Given the description of an element on the screen output the (x, y) to click on. 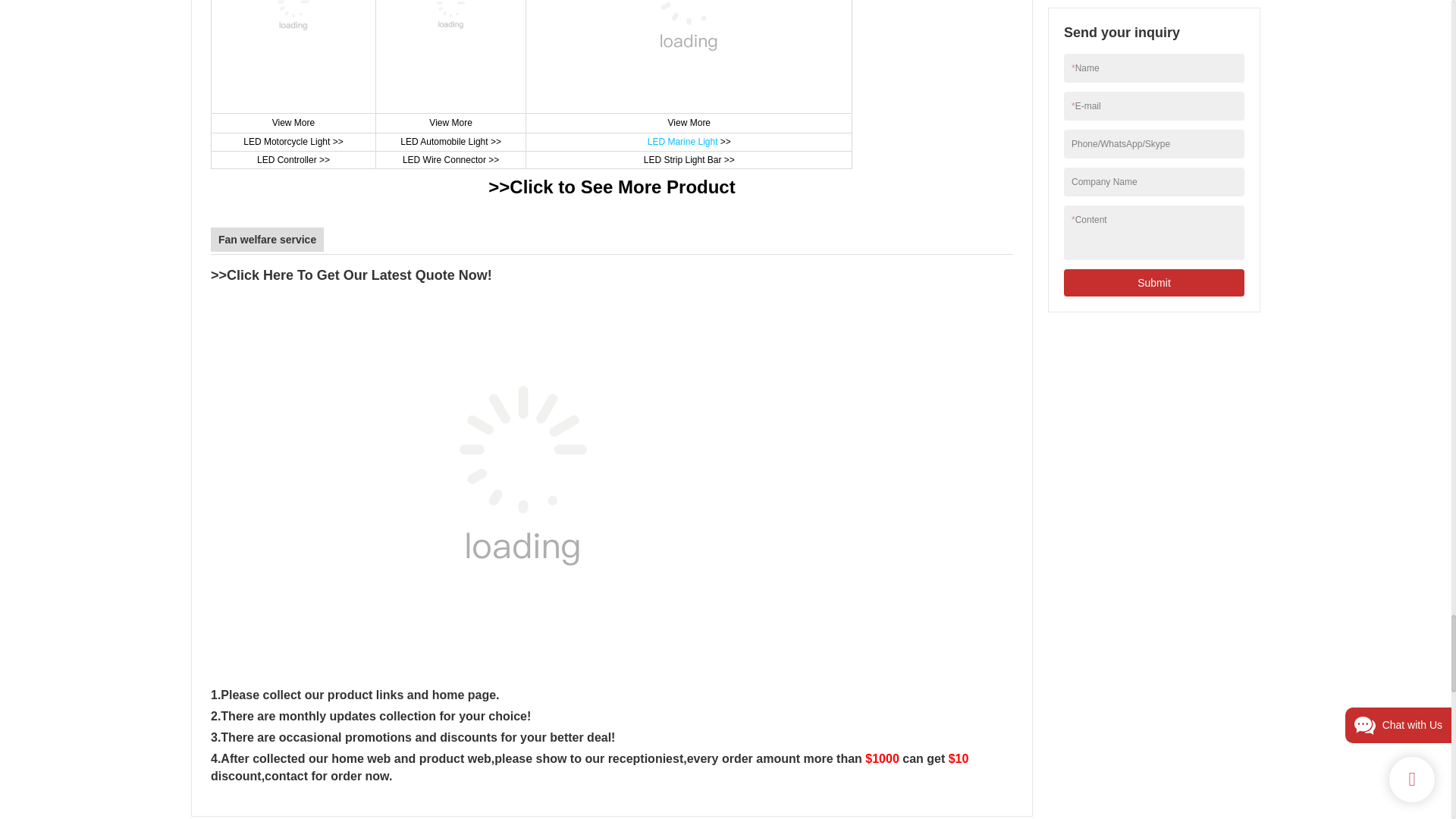
LED Marine Light (682, 141)
